Given the description of an element on the screen output the (x, y) to click on. 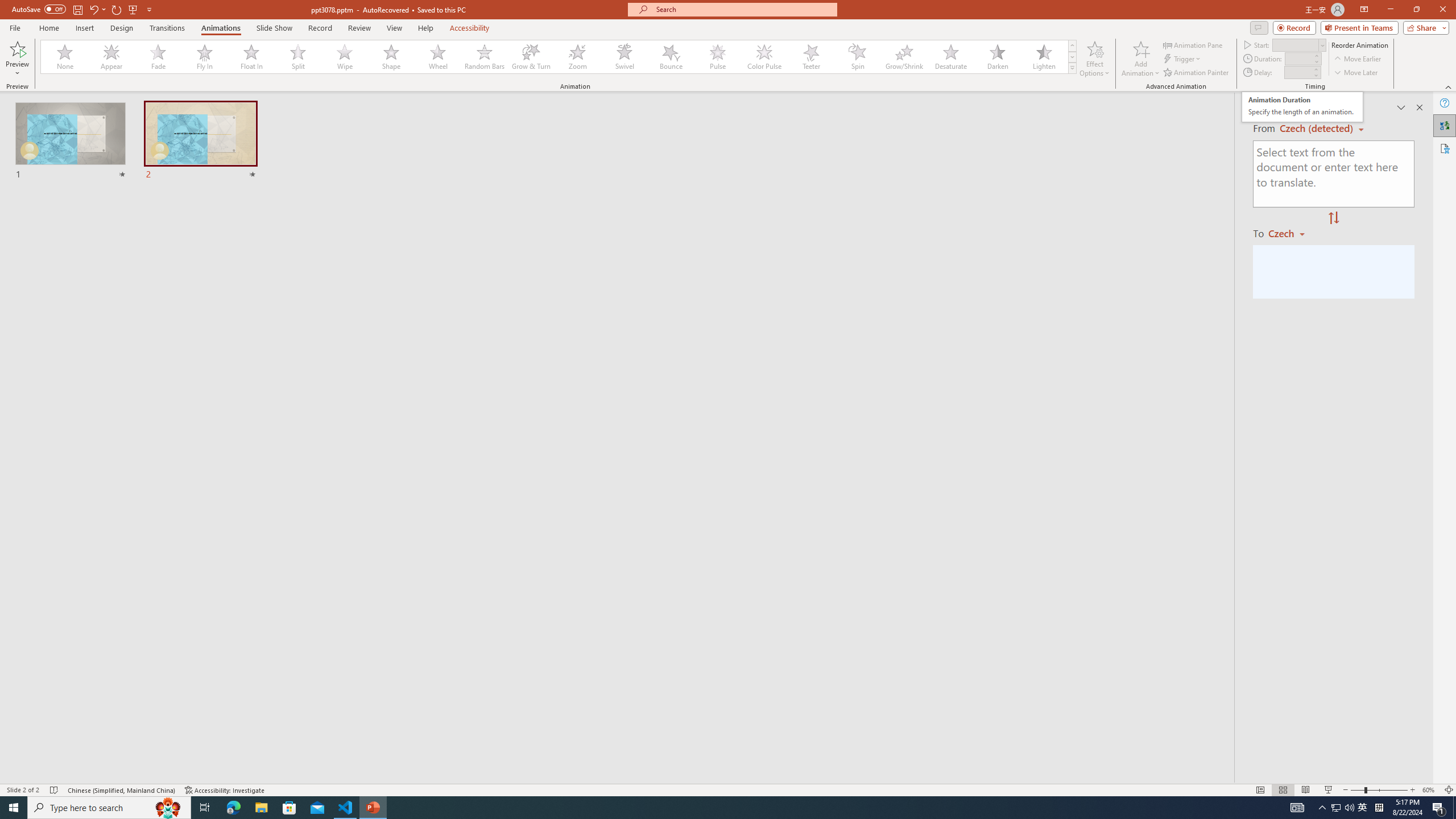
Lighten (1043, 56)
Add Animation (1141, 58)
